Given the description of an element on the screen output the (x, y) to click on. 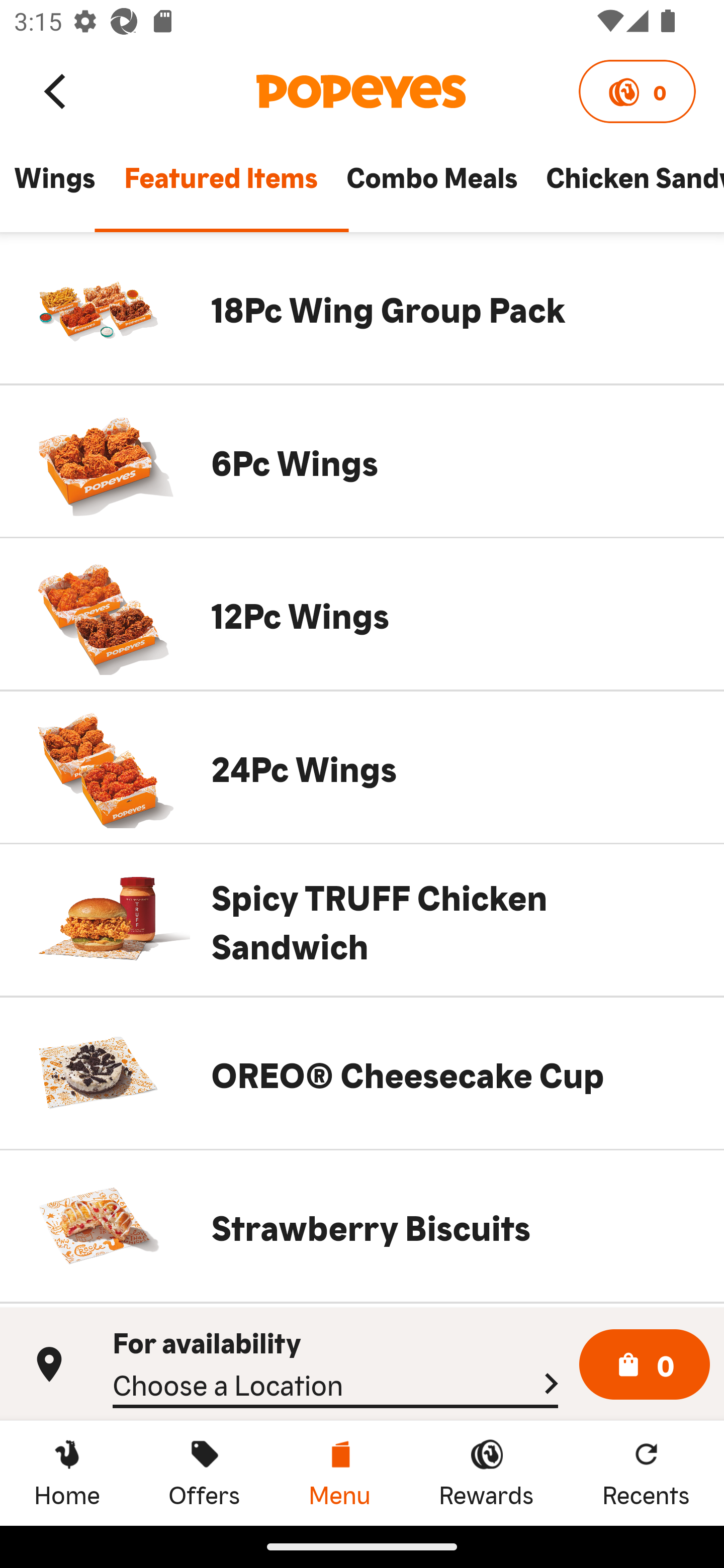
Back (56, 90)
0 Points 0 (636, 91)
Wings (54, 186)
Featured Items (220, 186)
Combo Meals (431, 186)
Chicken Sandwich   (627, 186)
0 Cart total  0 (644, 1364)
Home Home Home (66, 1472)
Offers Offers Offers (203, 1472)
Menu, current page Menu Menu, current page (339, 1472)
Rewards Rewards Rewards (486, 1472)
Recents Recents Recents (646, 1472)
